Given the description of an element on the screen output the (x, y) to click on. 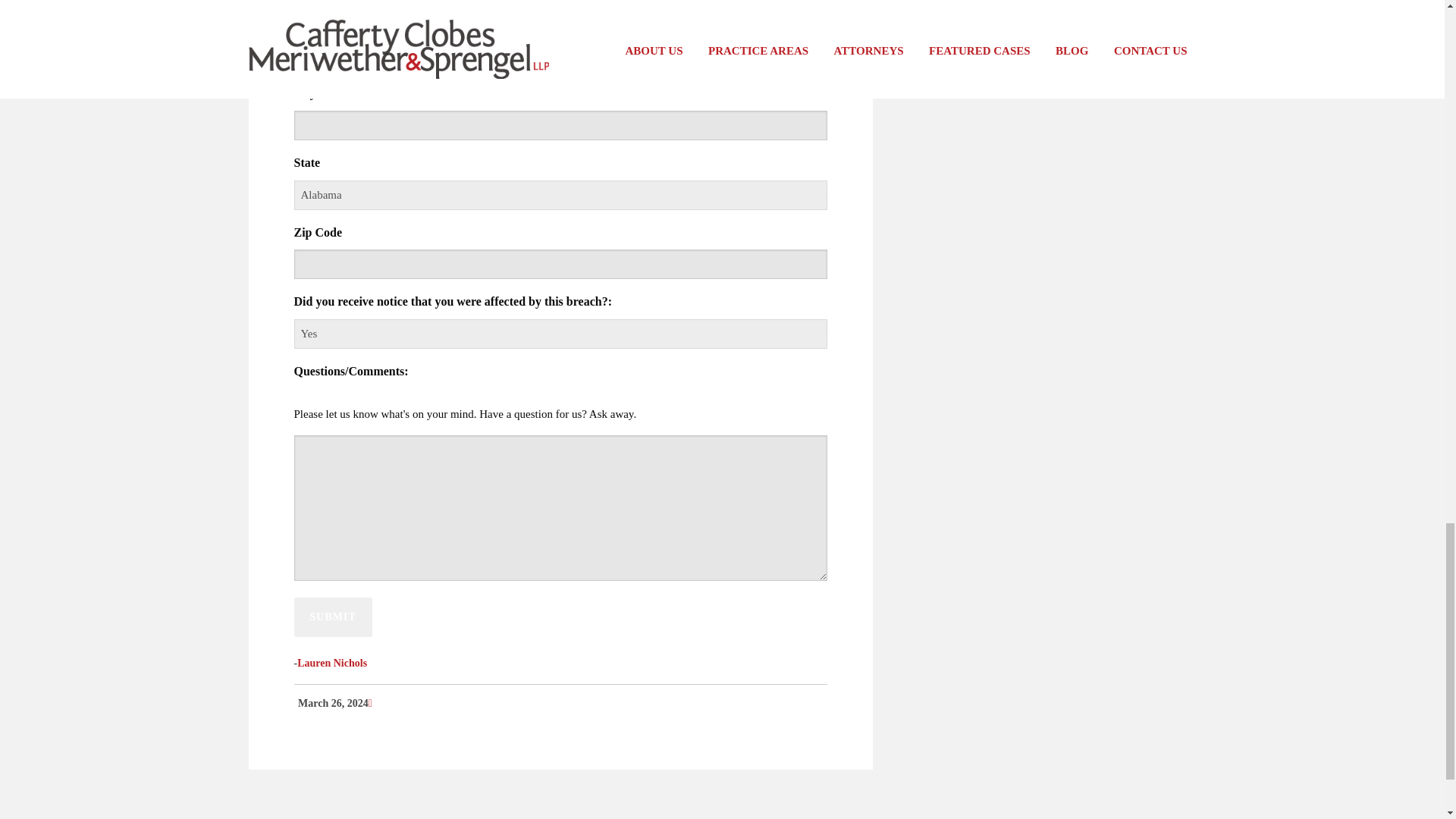
Posts by Lauren Nichols (331, 663)
Submit (333, 617)
Lauren Nichols (331, 663)
Submit (333, 617)
Share on Social Media (370, 703)
